Given the description of an element on the screen output the (x, y) to click on. 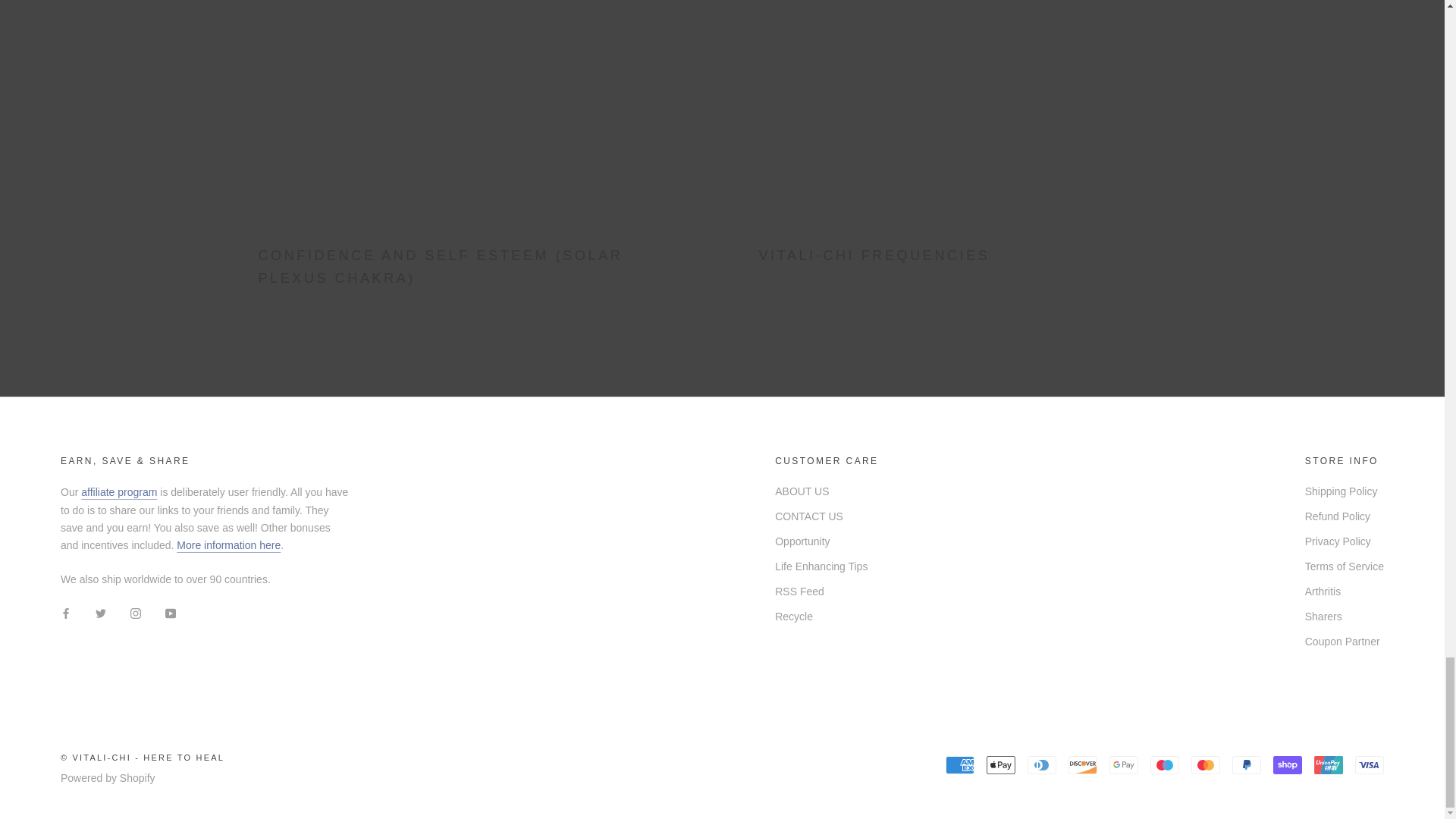
Diners Club (1042, 764)
PayPal (1245, 764)
American Express (959, 764)
Visa (1369, 764)
Mastercard (1205, 764)
Union Pay (1328, 764)
Shop Pay (1286, 764)
Apple Pay (1000, 764)
Google Pay (1123, 764)
Discover (1082, 764)
